Given the description of an element on the screen output the (x, y) to click on. 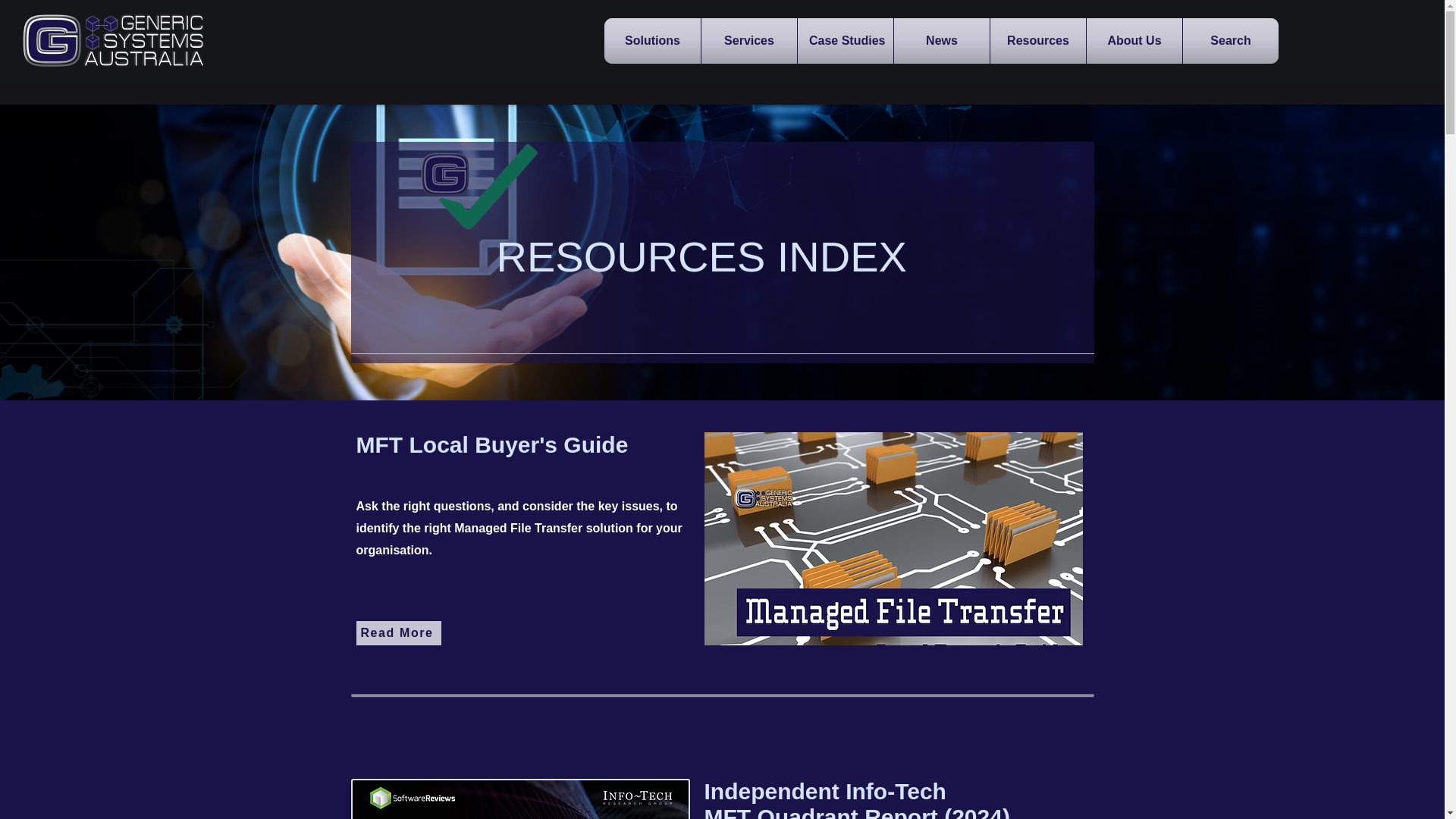
Case Studies (845, 40)
Resources (1037, 40)
News (941, 40)
Search (1230, 40)
GSA Logo Website Menu V2 cubes.png (113, 40)
Read More (398, 632)
